Given the description of an element on the screen output the (x, y) to click on. 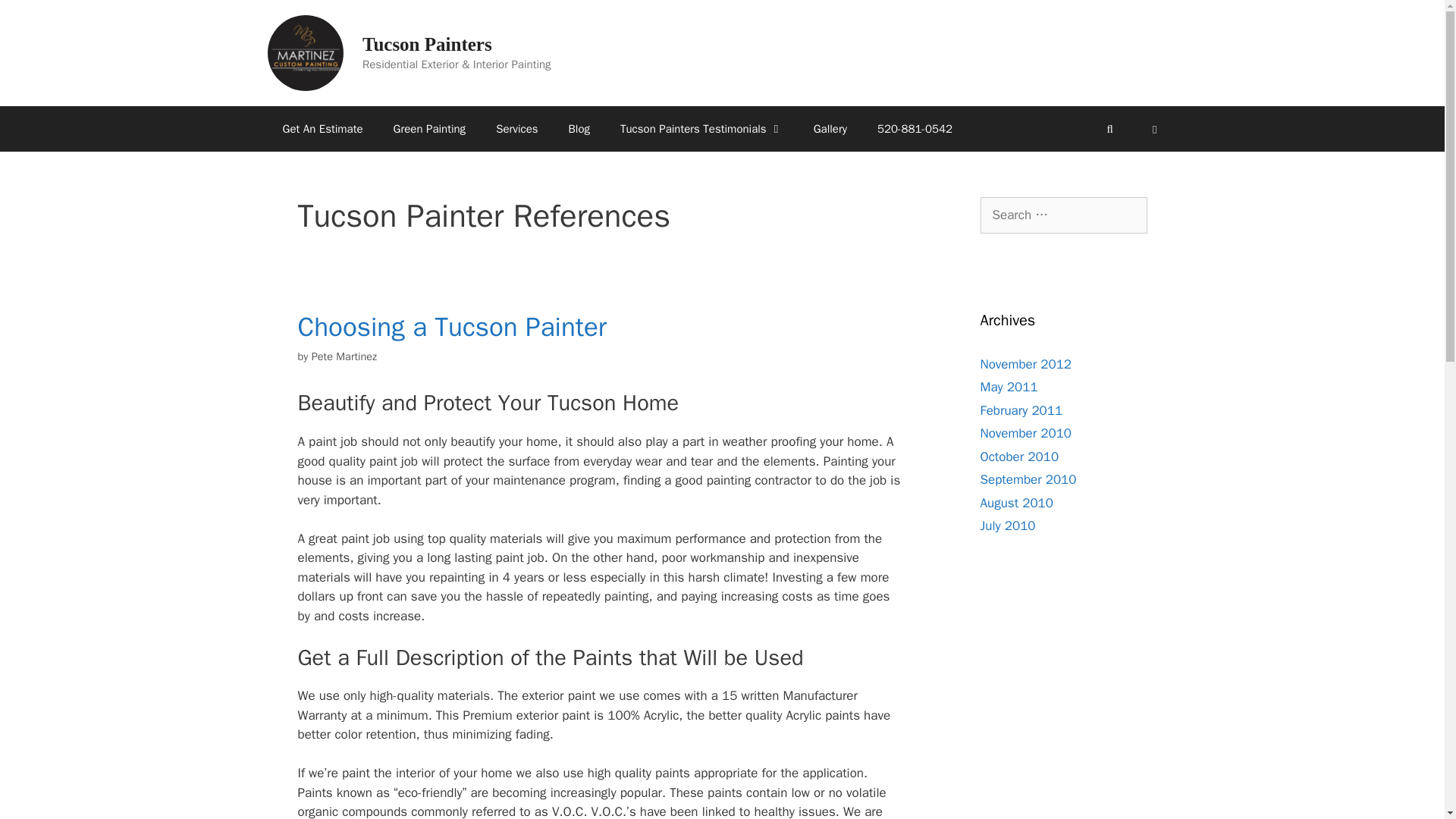
Choosing a Tucson Painter (452, 326)
October 2010 (1018, 456)
Get An Estimate (321, 128)
February 2011 (1020, 409)
September 2010 (1027, 479)
Blog (579, 128)
Green Painting (429, 128)
520-881-0542 (914, 128)
View all posts by Pete Martinez (344, 356)
Search for: (1063, 215)
